Given the description of an element on the screen output the (x, y) to click on. 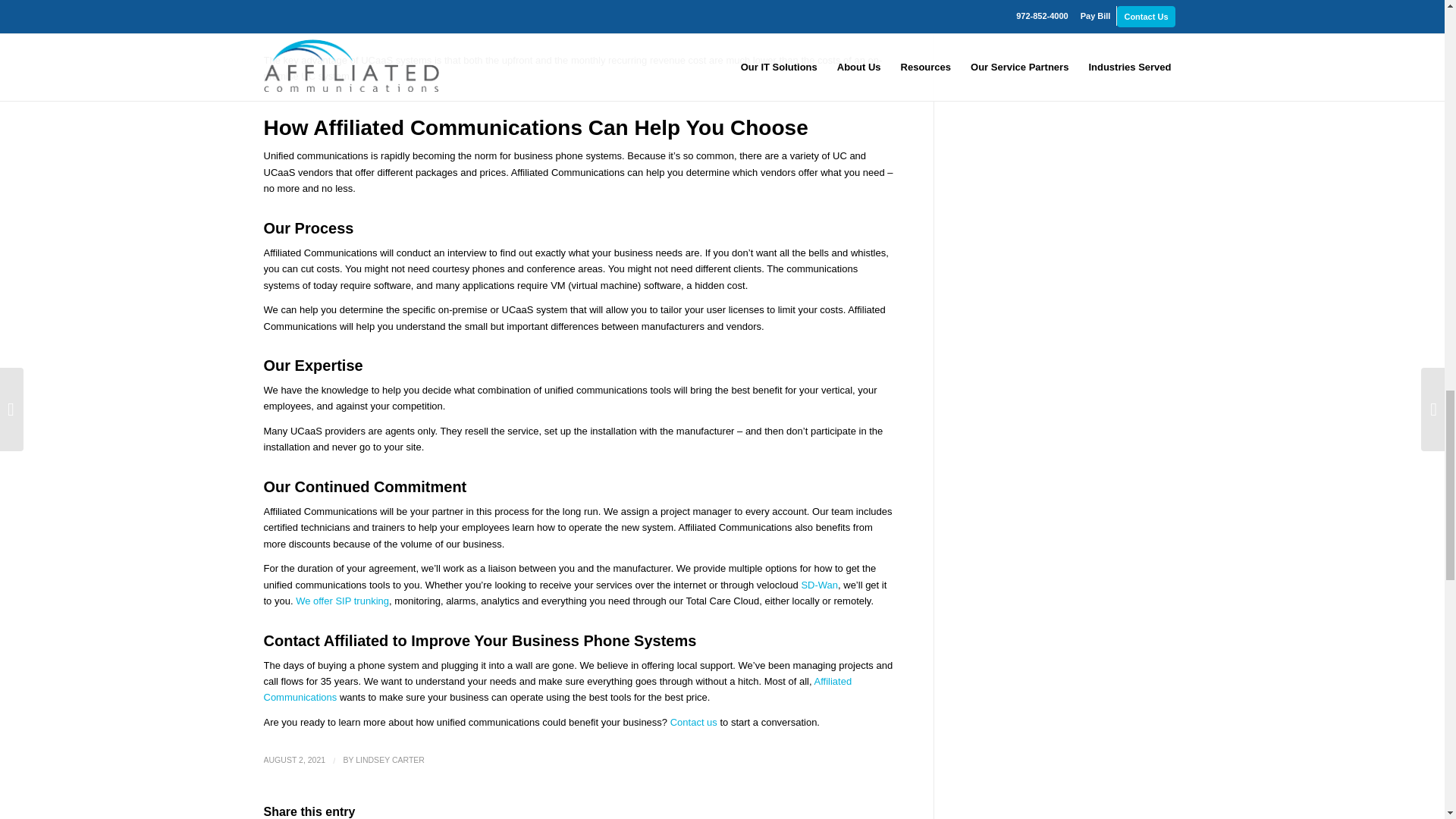
Posts by Lindsey Carter (390, 759)
